Given the description of an element on the screen output the (x, y) to click on. 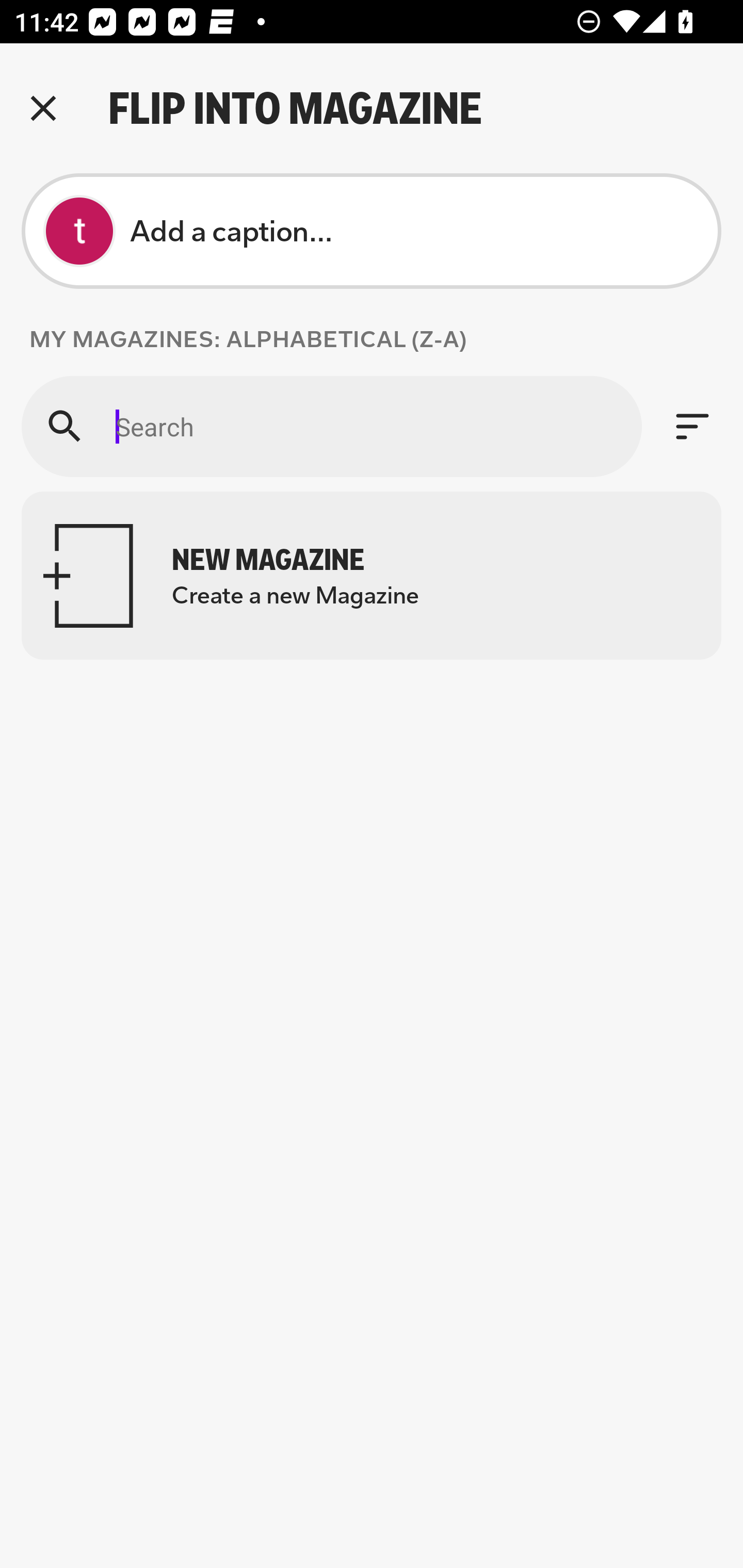
test appium Add a caption… (371, 231)
Search (331, 426)
NEW MAGAZINE Create a new Magazine (371, 575)
